Given the description of an element on the screen output the (x, y) to click on. 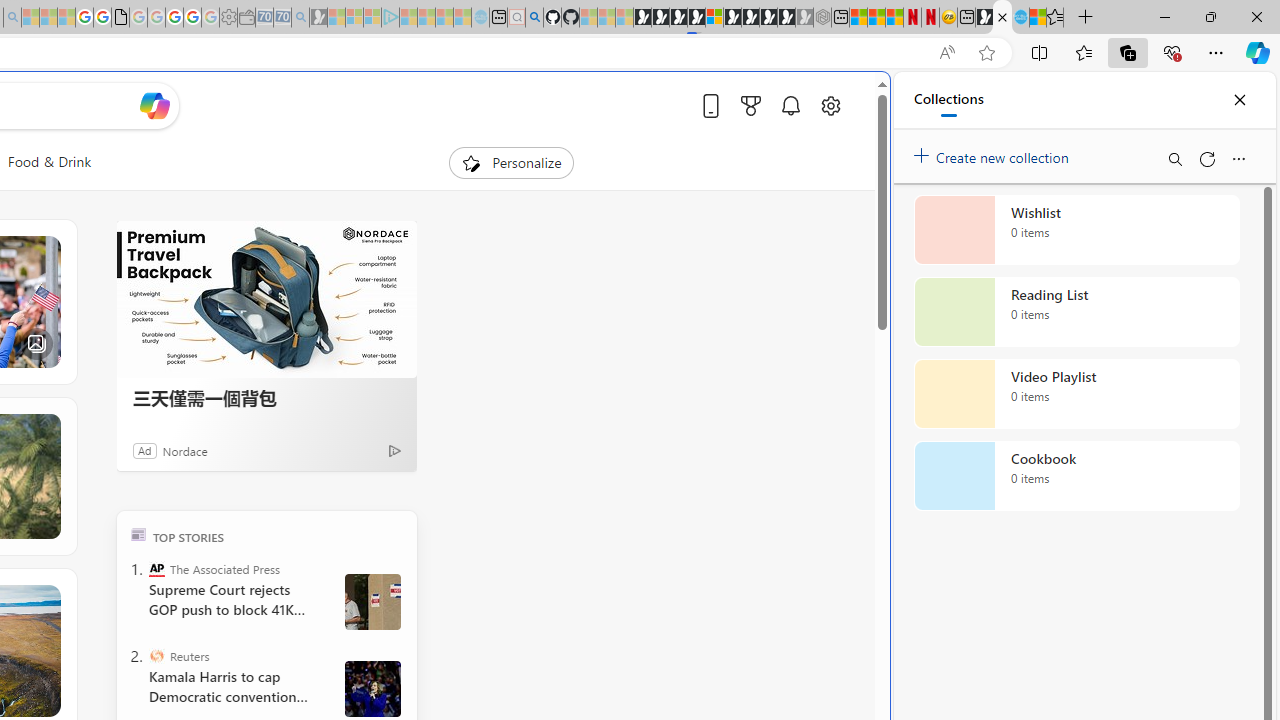
TOP (138, 534)
Wishlist collection, 0 items (1076, 229)
